Given the description of an element on the screen output the (x, y) to click on. 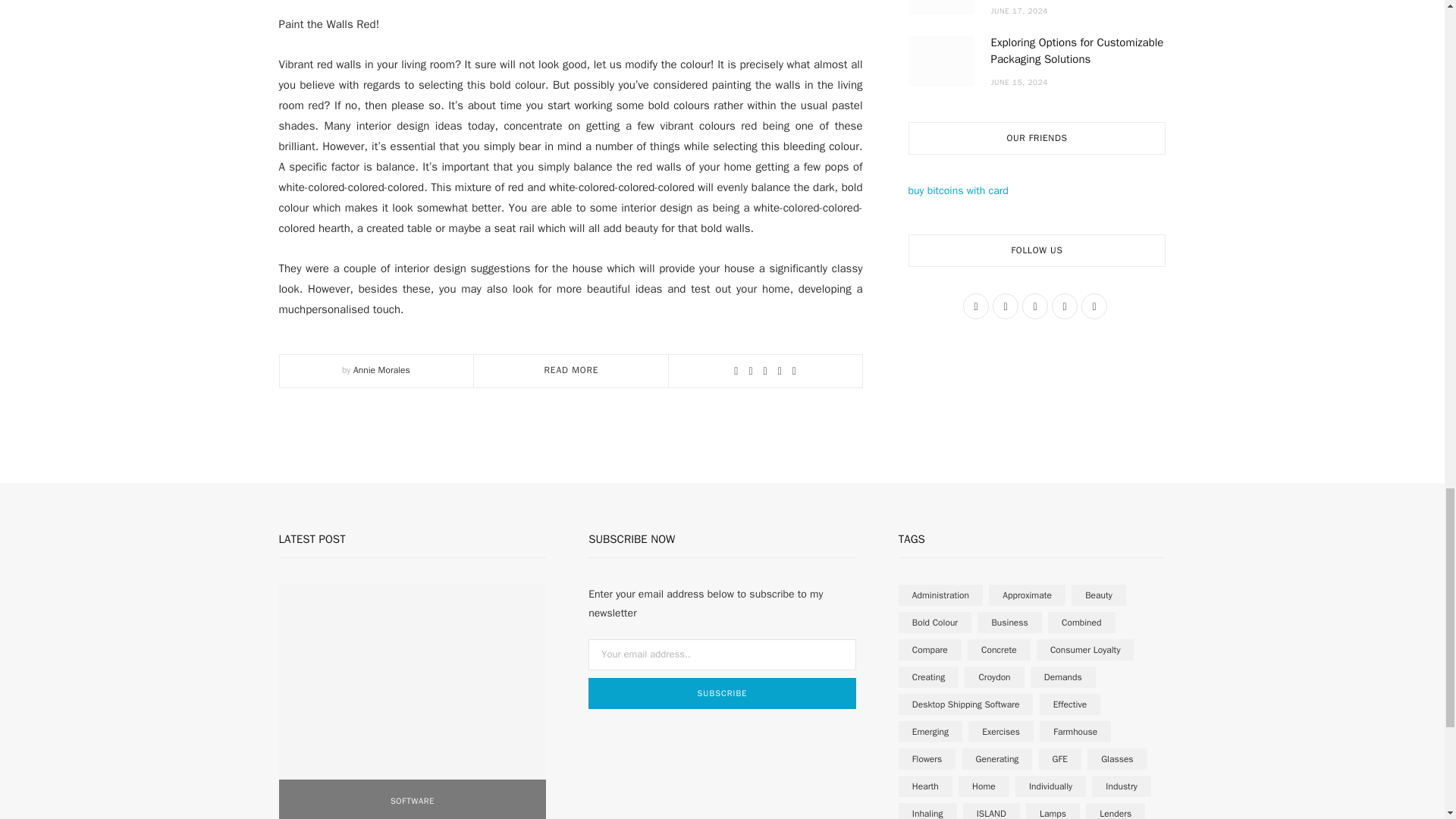
Subscribe (722, 693)
READ MORE (571, 369)
Annie Morales (381, 369)
Posts by Annie Morales (381, 369)
